Given the description of an element on the screen output the (x, y) to click on. 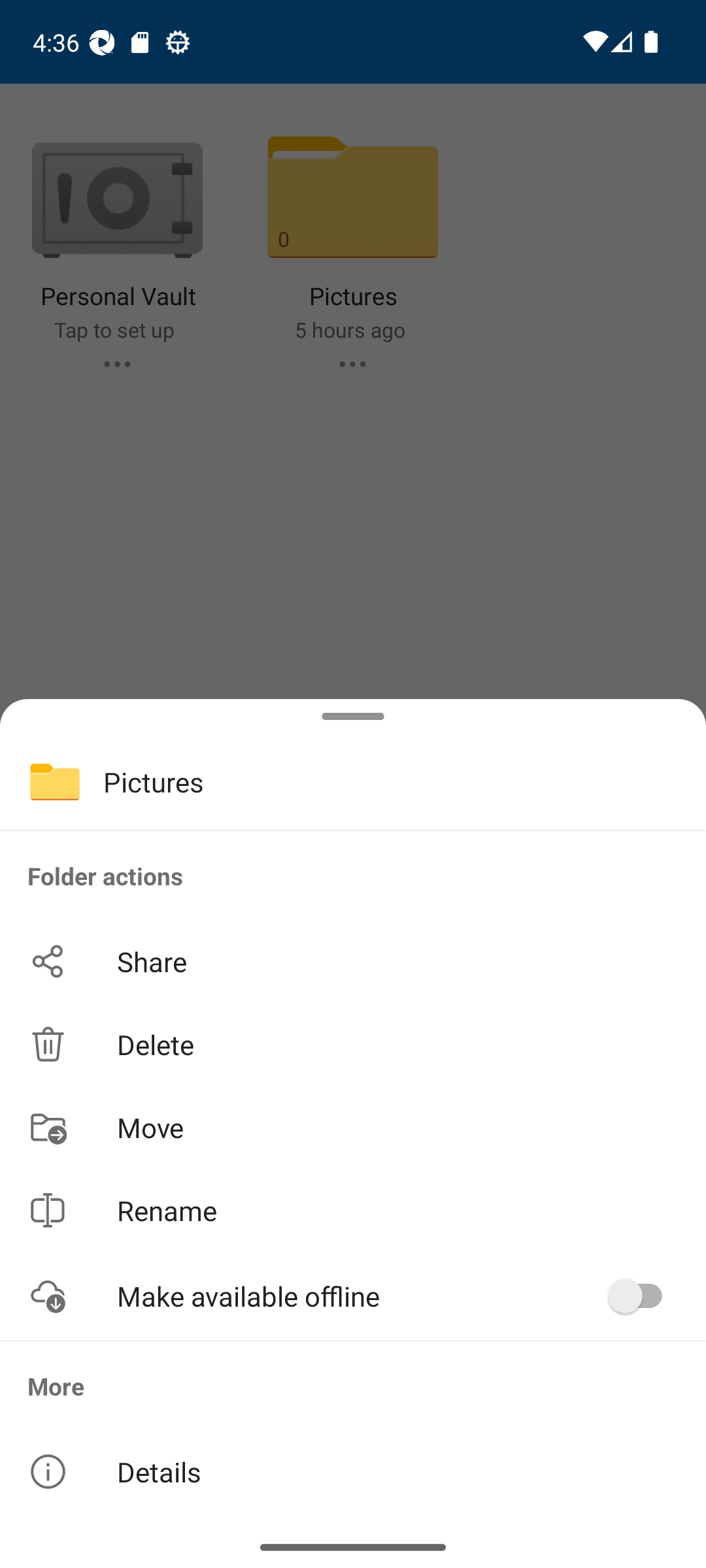
Share button Share (353, 961)
Delete button Delete (353, 1044)
Move button Move (353, 1126)
Rename button Rename (353, 1209)
Make offline operation (641, 1295)
Details button Details (353, 1471)
